Given the description of an element on the screen output the (x, y) to click on. 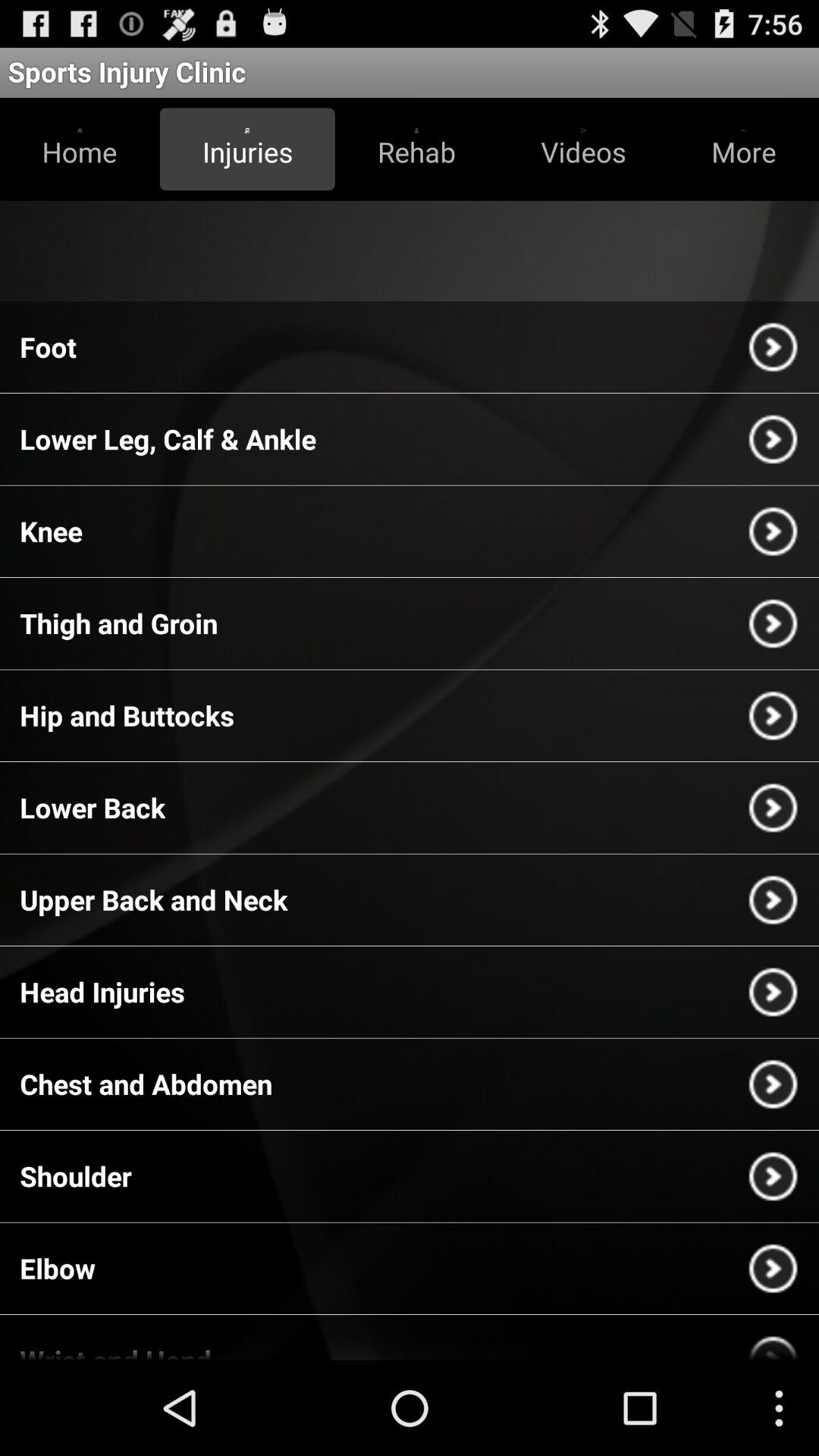
tap the head injuries icon (101, 991)
